Given the description of an element on the screen output the (x, y) to click on. 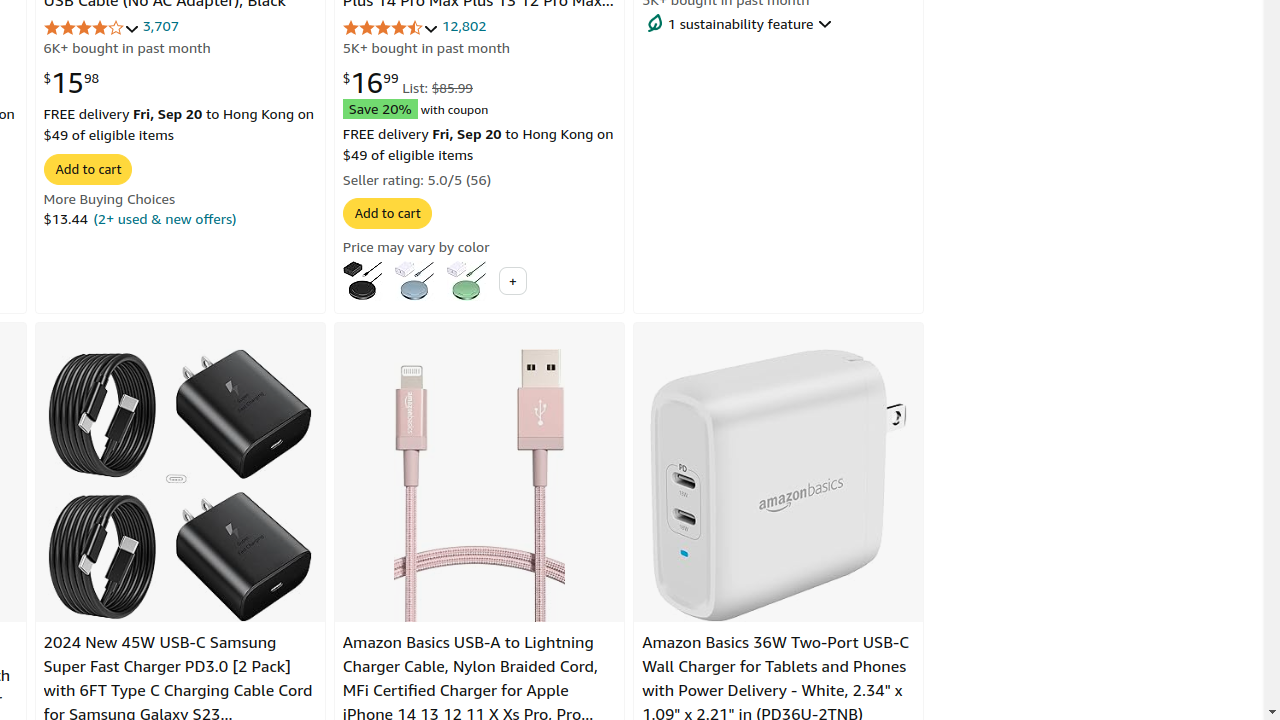
(2+ used & new offers) Element type: link (165, 218)
$15.98 Element type: link (71, 82)
3,707 Element type: link (160, 26)
$16.99 List: $85.99 Element type: link (407, 82)
4.4 out of 5 stars Element type: push-button (390, 27)
